Given the description of an element on the screen output the (x, y) to click on. 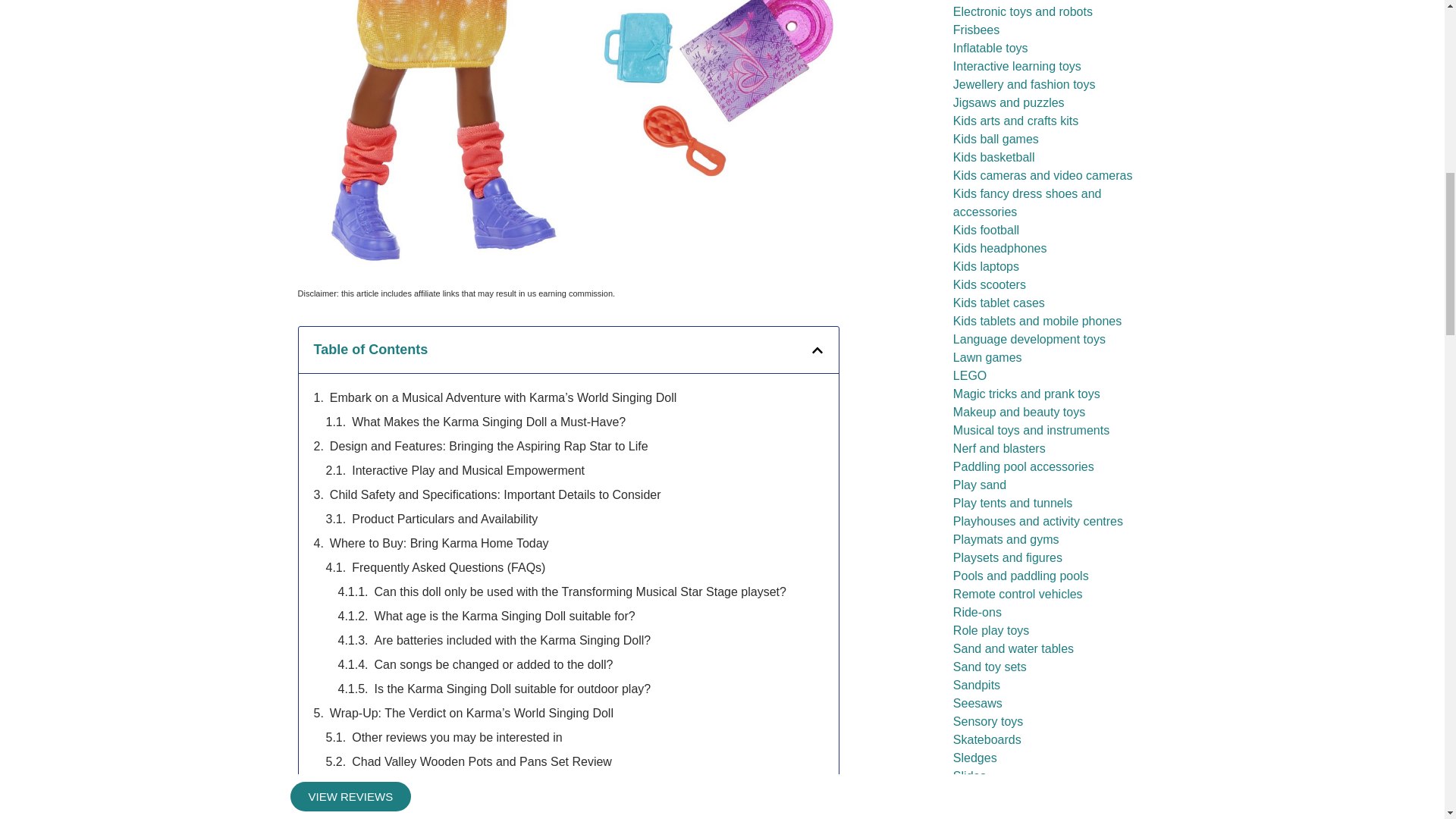
Can songs be changed or added to the doll? (493, 665)
What Makes the Karma Singing Doll a Must-Have? (489, 422)
Jurrasic World Wooden Mobile Vet Vehicle Review (487, 786)
Product Particulars and Availability (444, 519)
Chad Valley Wooden Pots and Pans Set Review (481, 761)
Interactive Play and Musical Empowerment (468, 470)
What age is the Karma Singing Doll suitable for? (504, 616)
Where to Buy: Bring Karma Home Today (439, 543)
